Given the description of an element on the screen output the (x, y) to click on. 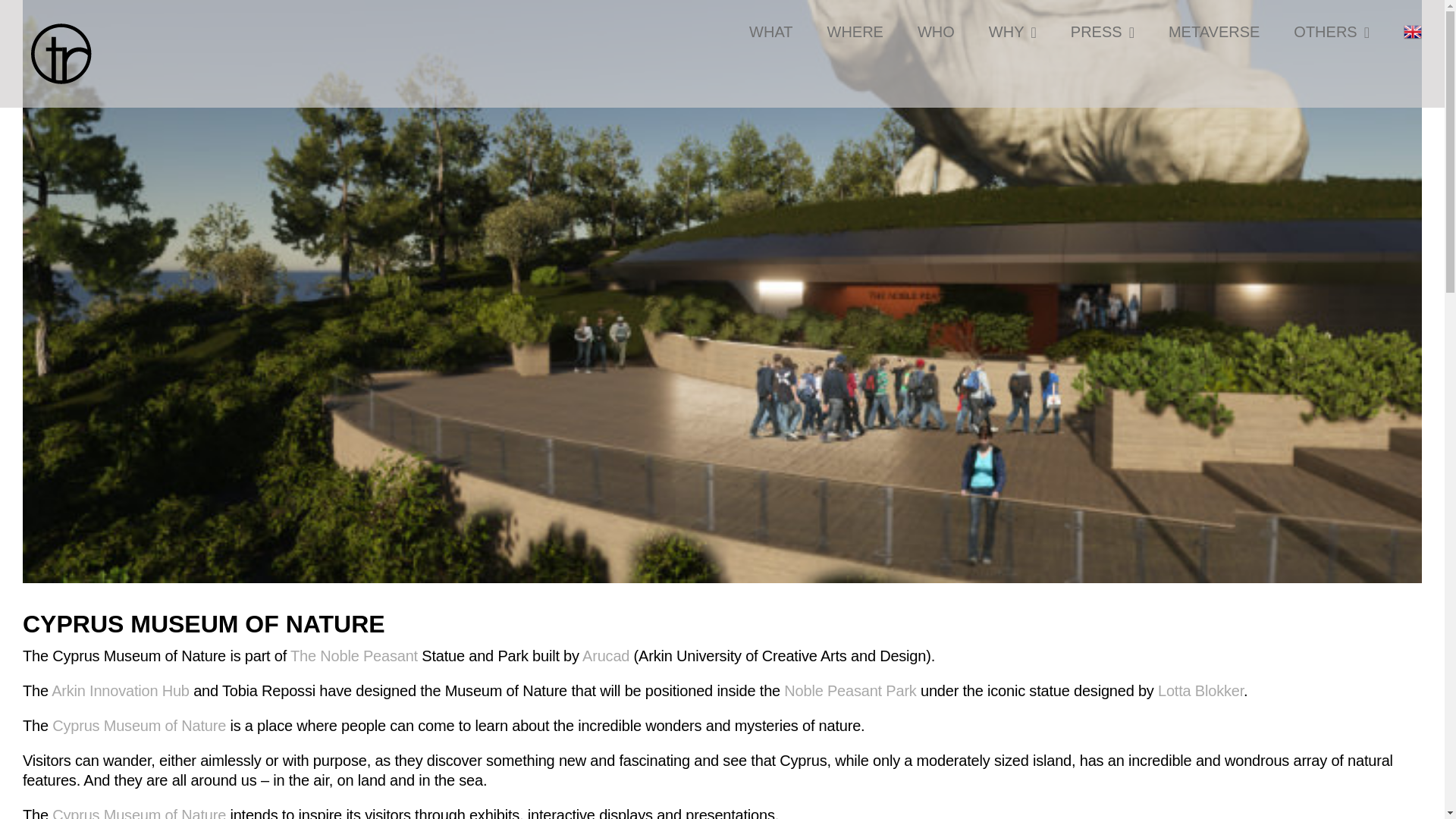
METAVERSE (1214, 31)
OTHERS (1332, 31)
PRESS (1102, 31)
